Given the description of an element on the screen output the (x, y) to click on. 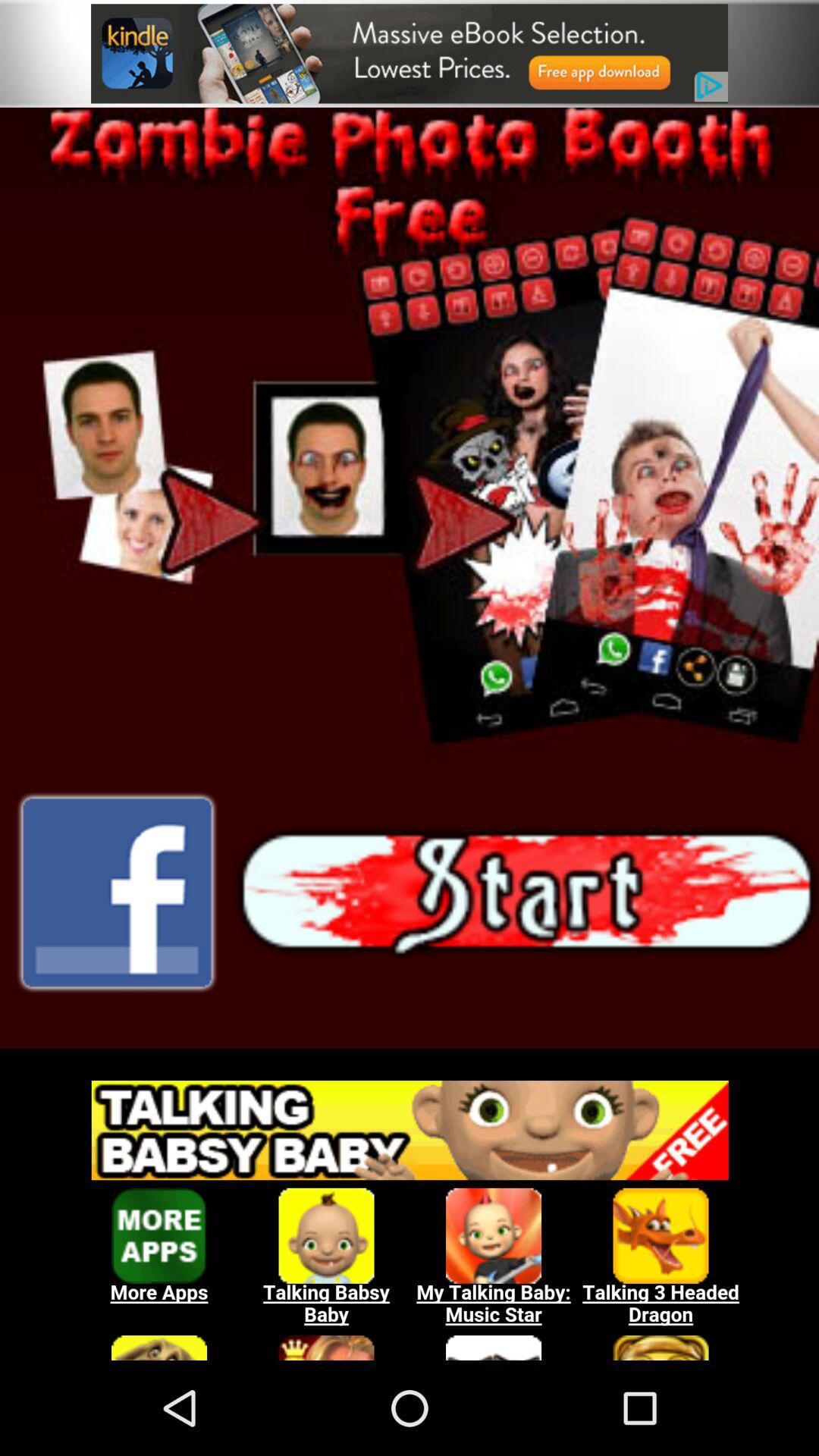
start button (526, 892)
